Given the description of an element on the screen output the (x, y) to click on. 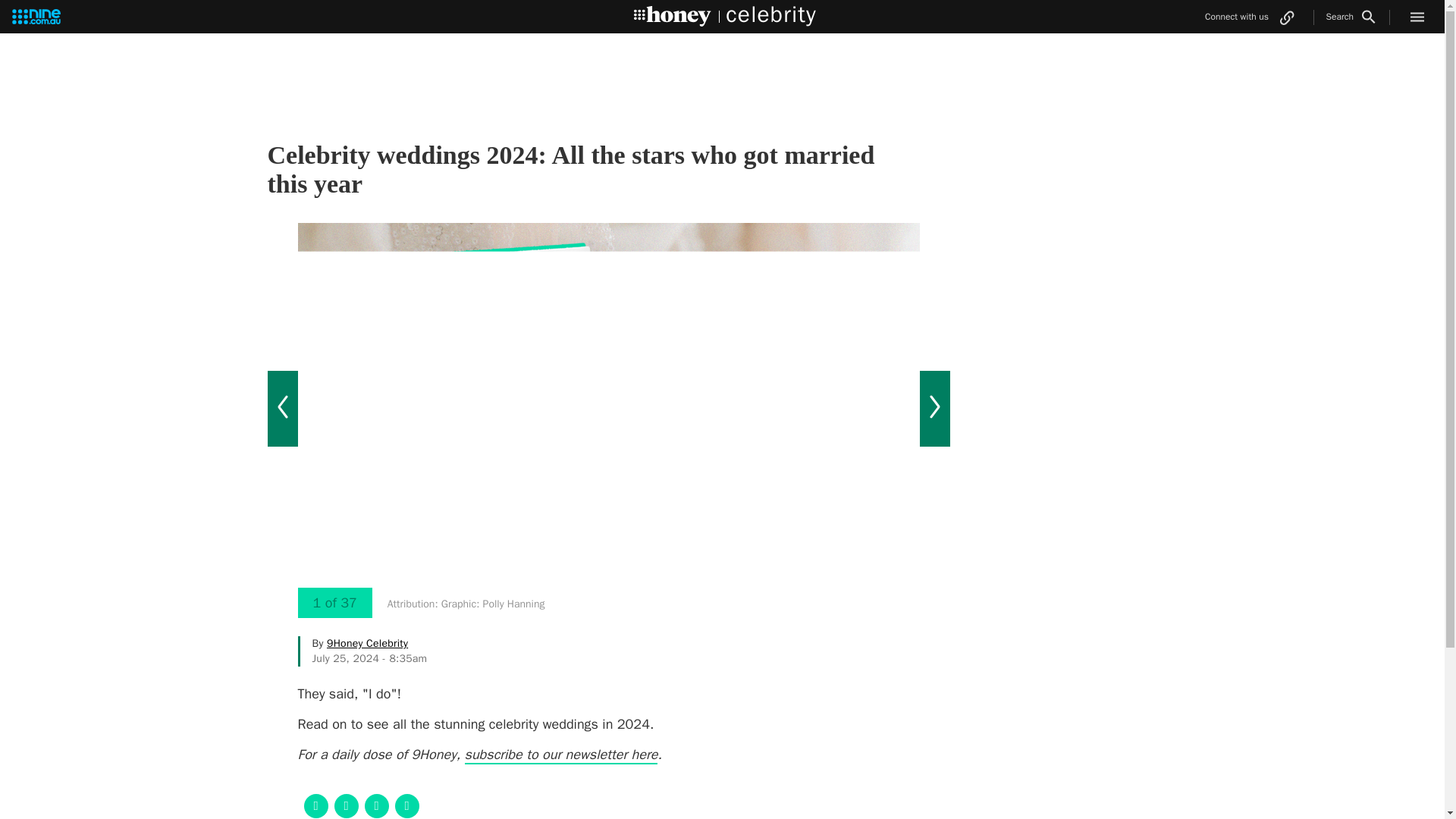
9Honey Celebrity (366, 643)
celebrity (764, 25)
subscribe to our newsletter here (561, 755)
subscribe to our newsletter here (561, 755)
